Given the description of an element on the screen output the (x, y) to click on. 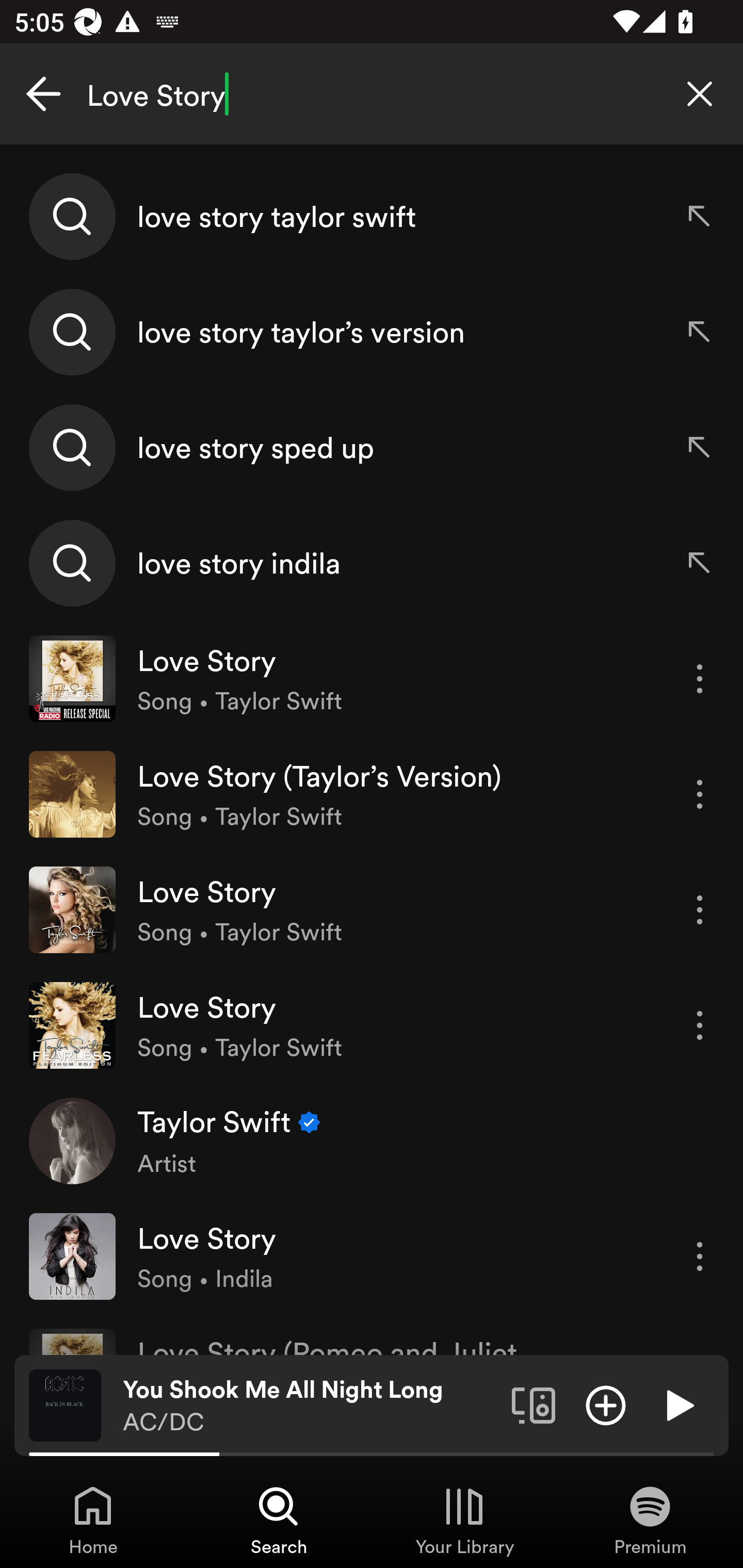
Love Story (371, 93)
Cancel (43, 93)
Clear search query (699, 93)
love story taylor swift (371, 216)
love story taylor’s version (371, 332)
love story sped up (371, 447)
love story indila (371, 562)
More options for song Love Story (699, 678)
More options for song Love Story (699, 910)
More options for song Love Story (699, 1025)
Taylor Swift Verified Artist (371, 1140)
More options for song Love Story (699, 1256)
You Shook Me All Night Long AC/DC (309, 1405)
The cover art of the currently playing track (64, 1404)
Connect to a device. Opens the devices menu (533, 1404)
Add item (605, 1404)
Play (677, 1404)
Home, Tab 1 of 4 Home Home (92, 1519)
Search, Tab 2 of 4 Search Search (278, 1519)
Your Library, Tab 3 of 4 Your Library Your Library (464, 1519)
Premium, Tab 4 of 4 Premium Premium (650, 1519)
